Given the description of an element on the screen output the (x, y) to click on. 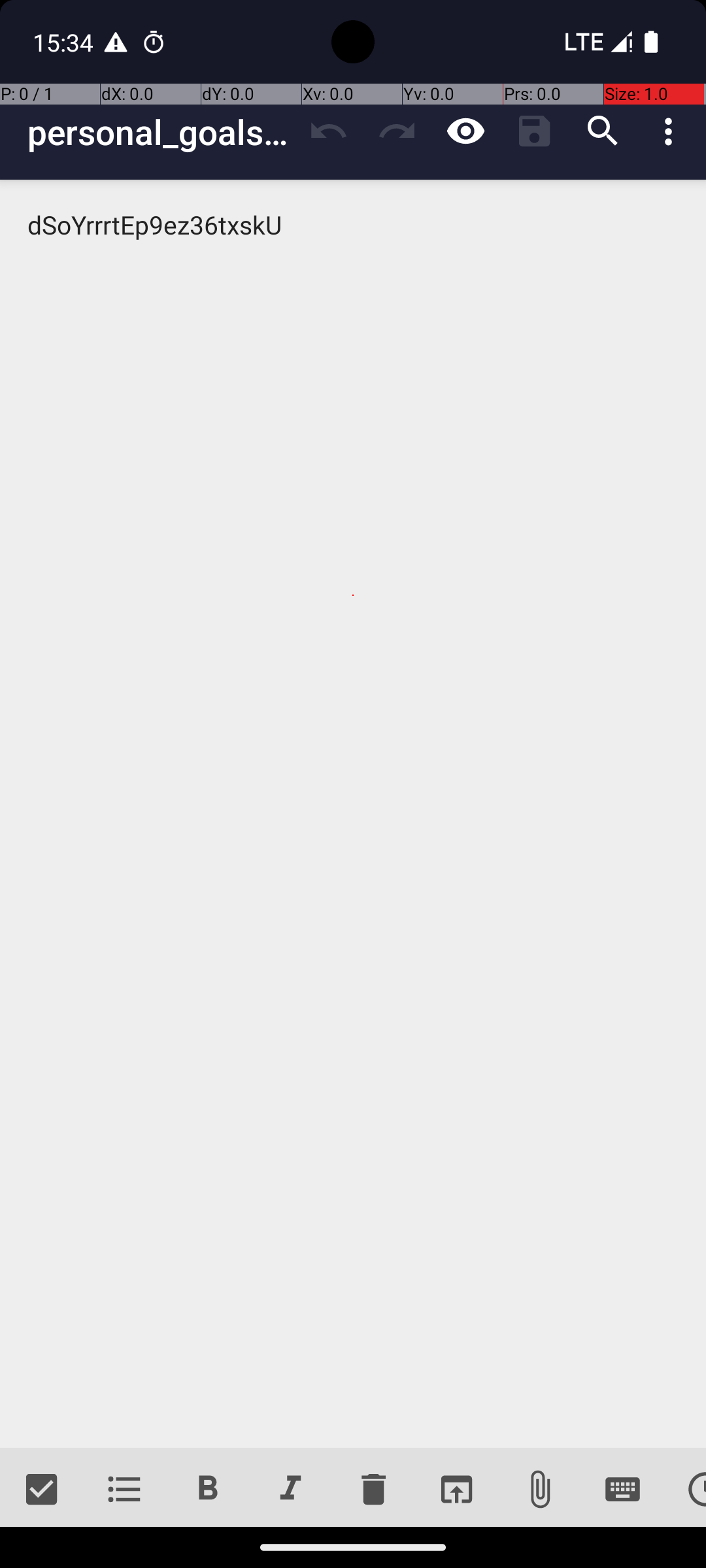
personal_goals_2024_copy Element type: android.widget.TextView (160, 131)
dSoYrrrtEp9ez36txskU
 Element type: android.widget.EditText (353, 813)
